Given the description of an element on the screen output the (x, y) to click on. 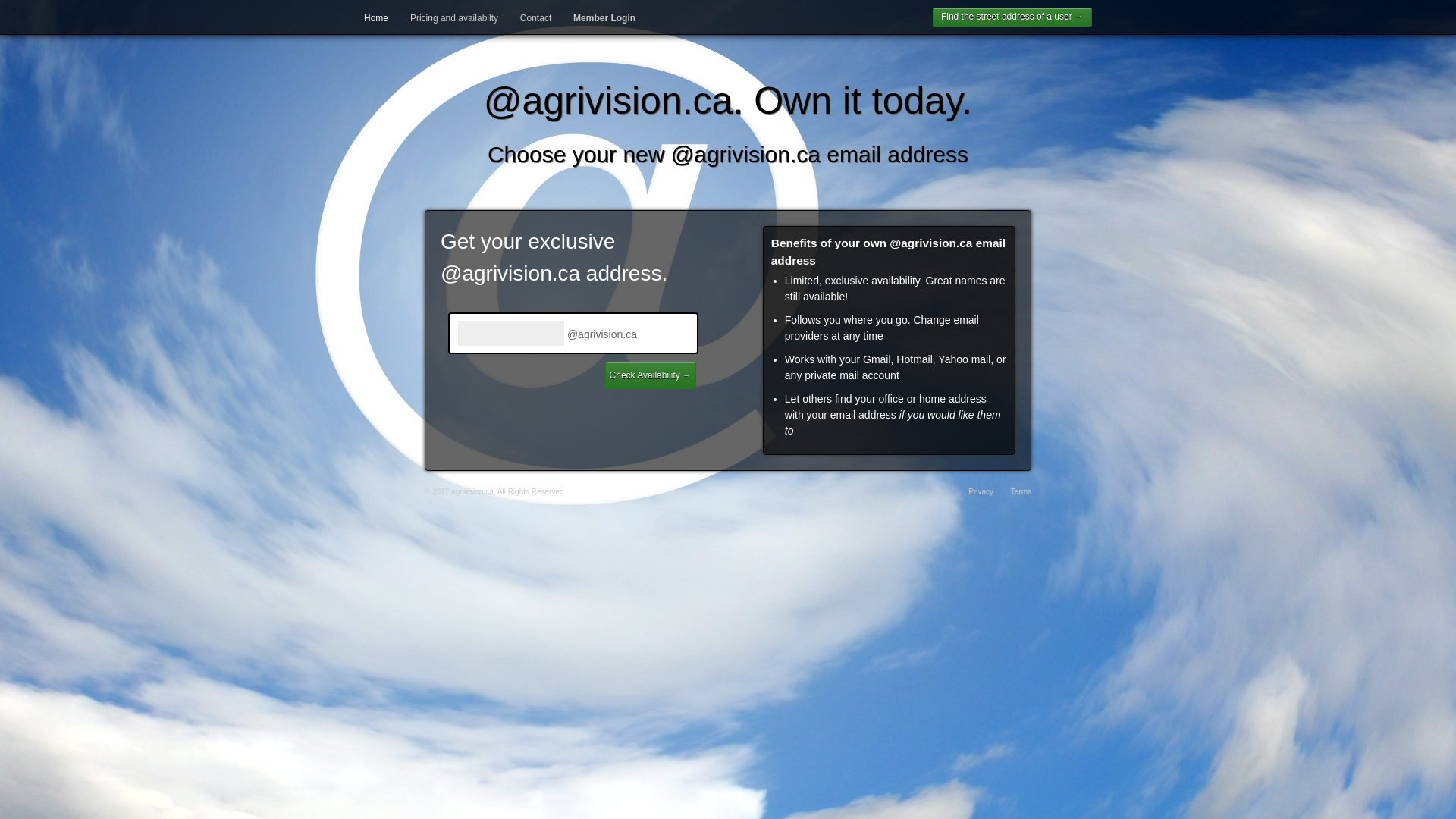
Terms Element type: text (1020, 491)
Privacy Element type: text (980, 491)
Home Element type: text (376, 17)
Contact Element type: text (535, 17)
Member Login Element type: text (604, 17)
Pricing and availabilty Element type: text (454, 17)
